Given the description of an element on the screen output the (x, y) to click on. 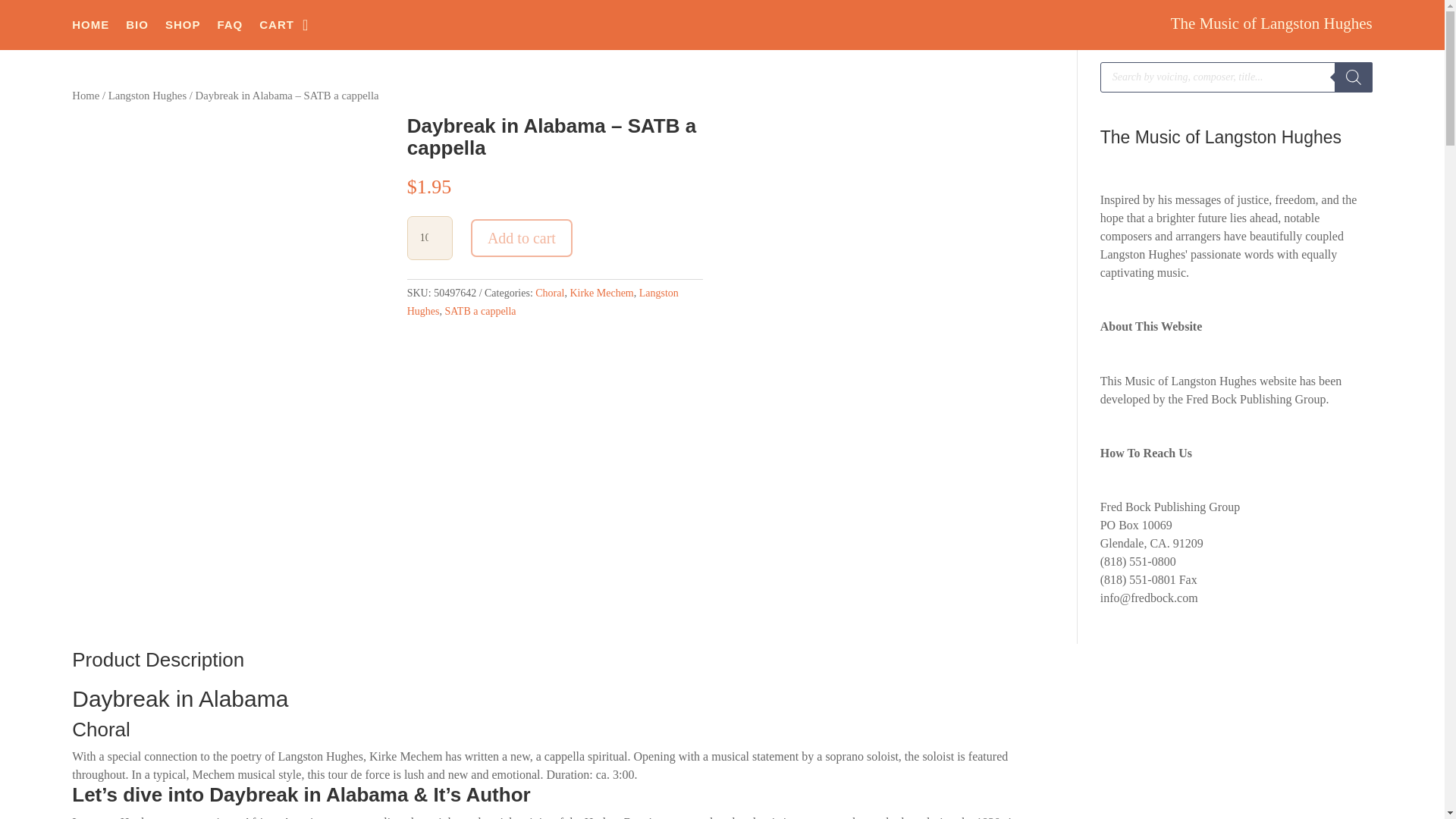
FAQ (229, 27)
Langston Hughes (146, 95)
CART (276, 27)
10 (429, 238)
Kirke Mechem (601, 292)
Langston Hughes (542, 301)
SATB a cappella (479, 310)
HOME (90, 27)
Add to cart (521, 238)
SHOP (182, 27)
